Given the description of an element on the screen output the (x, y) to click on. 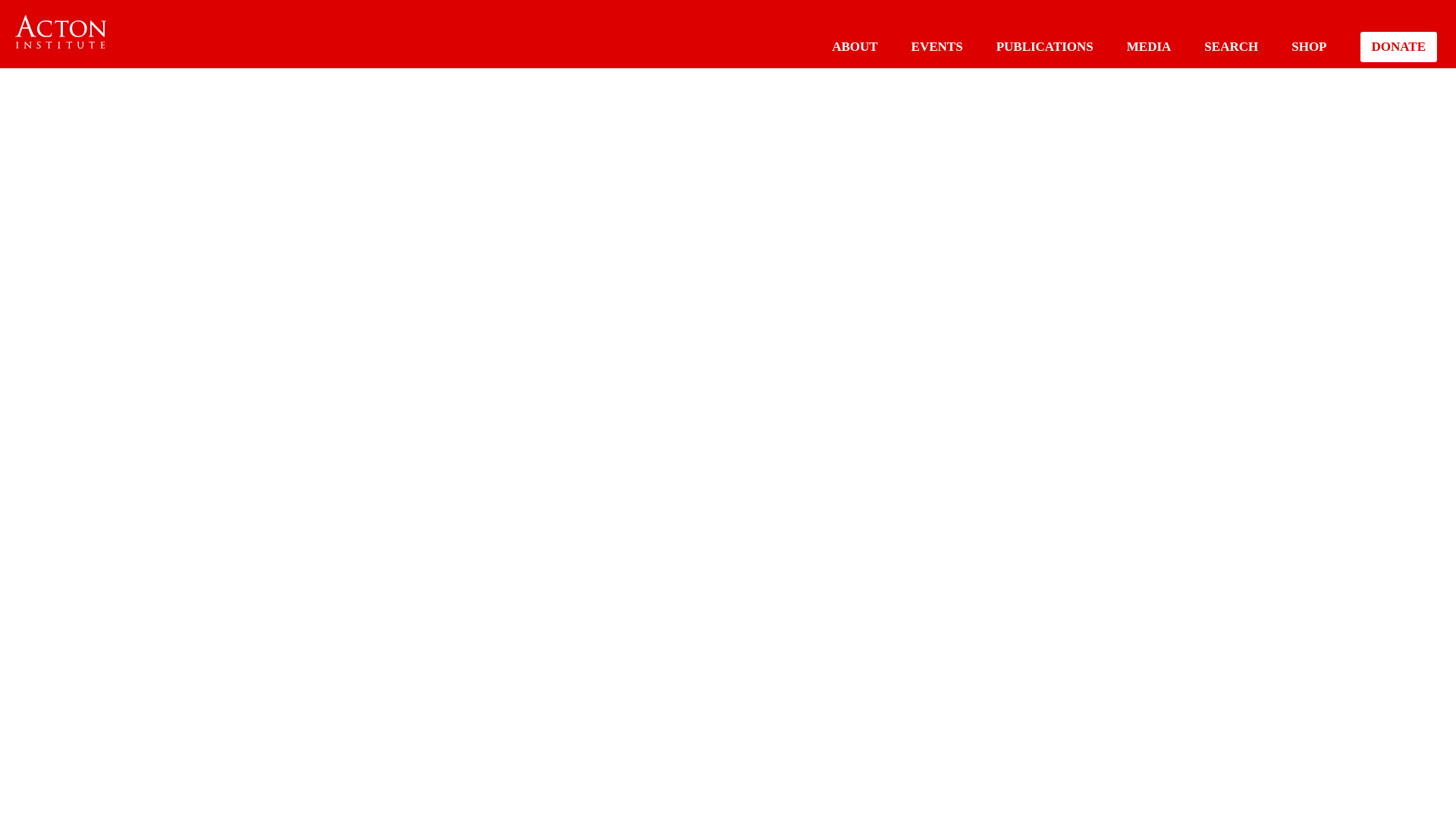
SEARCH (1230, 46)
ABOUT (854, 46)
The Acton Institute (60, 31)
EVENTS (936, 46)
SHOP (1308, 46)
MEDIA (1149, 46)
PUBLICATIONS (1044, 46)
DONATE (1398, 46)
